Given the description of an element on the screen output the (x, y) to click on. 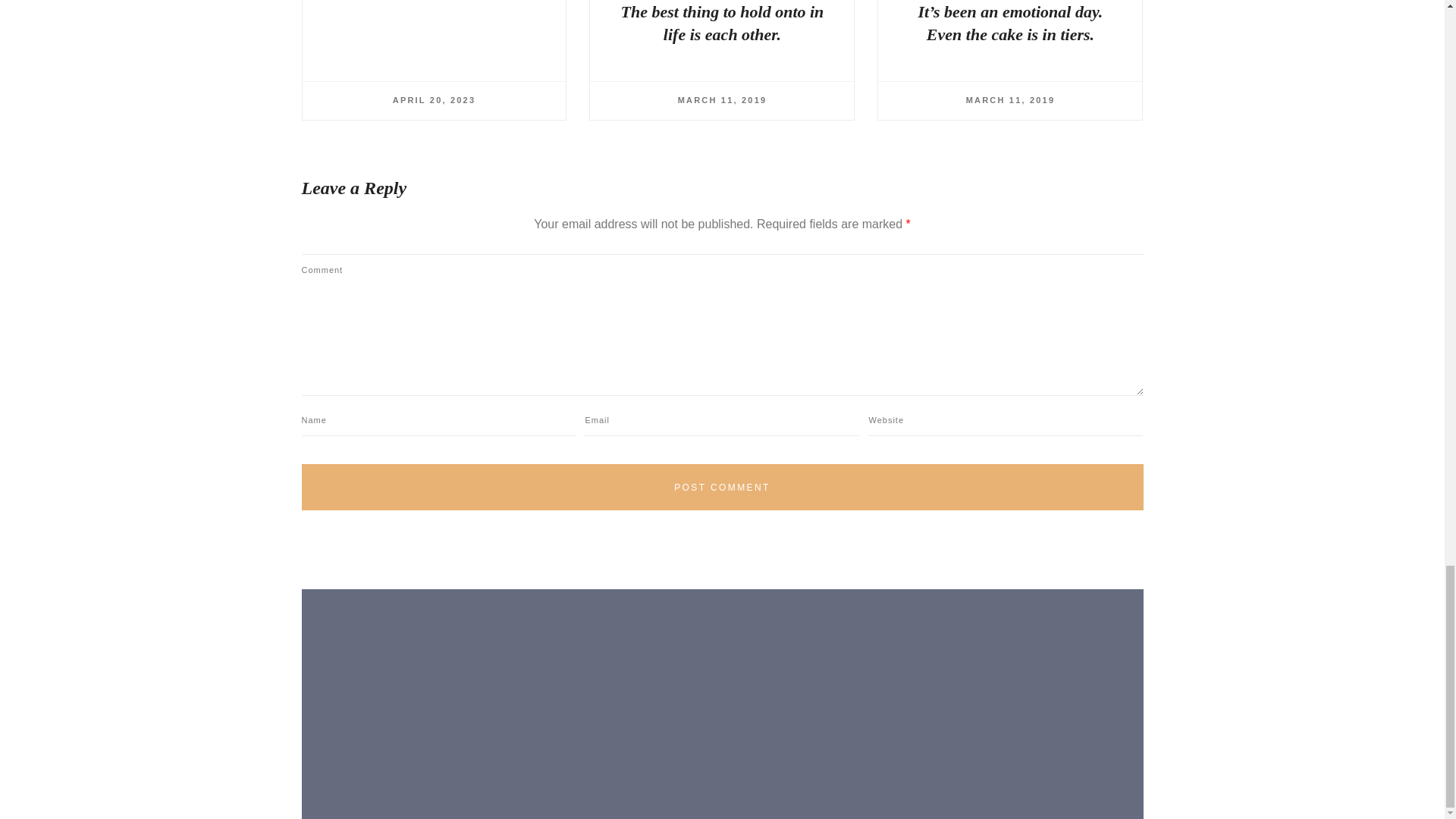
Post Comment (721, 487)
